Given the description of an element on the screen output the (x, y) to click on. 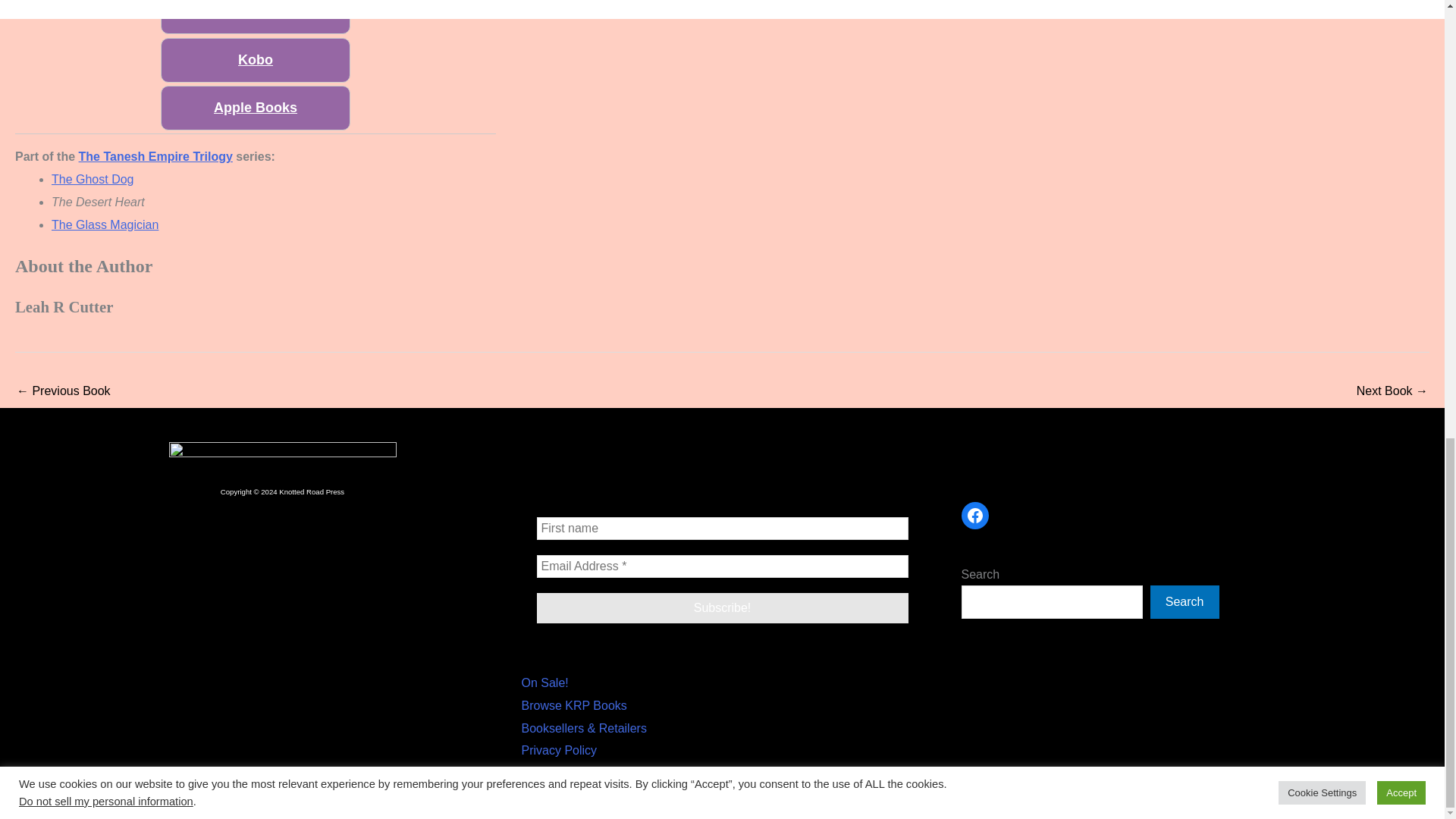
The Ghost Dog (1392, 392)
Email Address (722, 566)
Rocketman (63, 392)
First name (722, 527)
Subscribe! (722, 607)
